Given the description of an element on the screen output the (x, y) to click on. 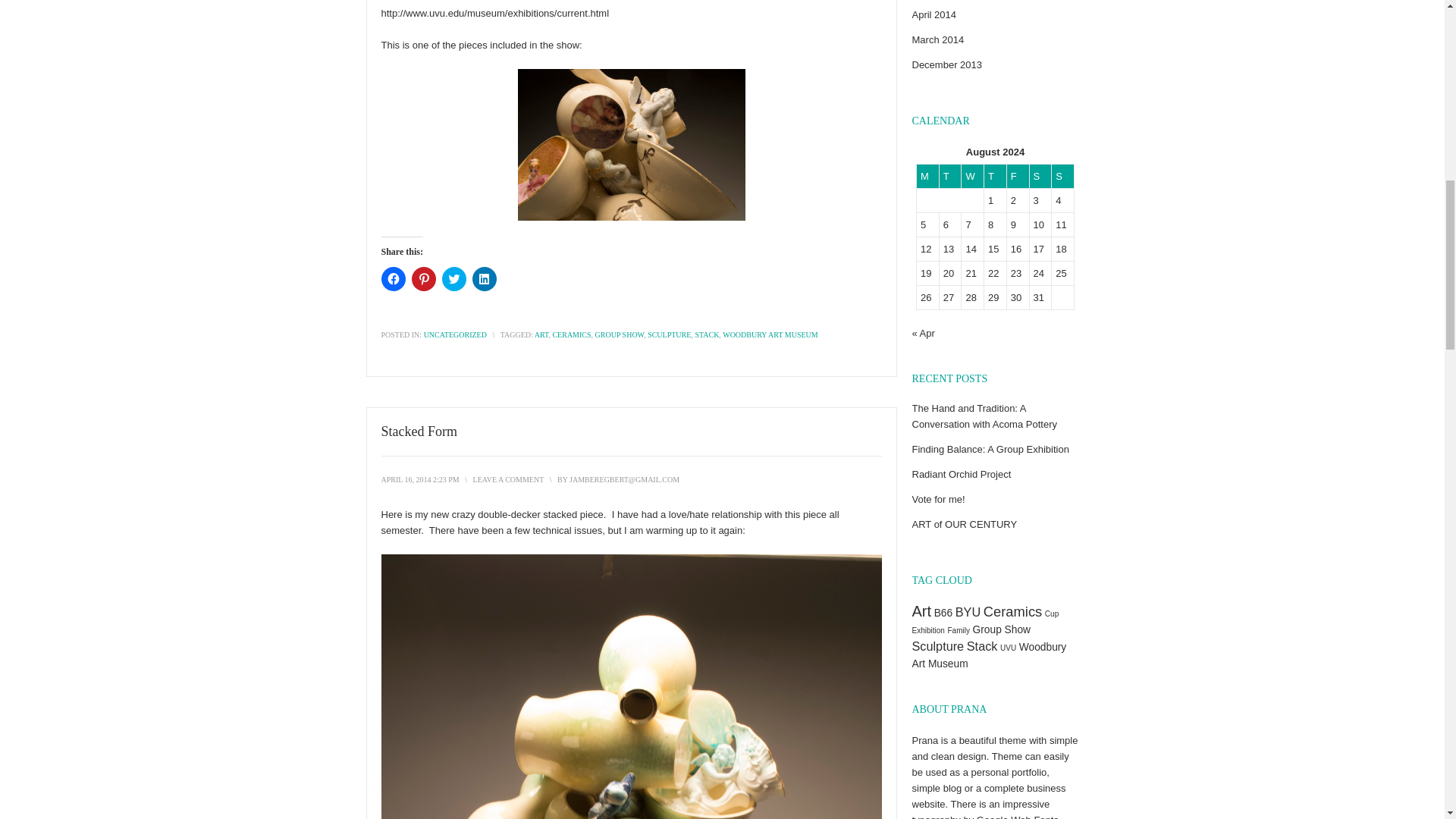
Click to share on Twitter (453, 278)
Click to share on Facebook (392, 278)
CERAMICS (571, 334)
Click to share on Pinterest (422, 278)
Click to share on LinkedIn (483, 278)
SCULPTURE (668, 334)
UNCATEGORIZED (454, 334)
ART (541, 334)
STACK (706, 334)
GROUP SHOW (620, 334)
